Given the description of an element on the screen output the (x, y) to click on. 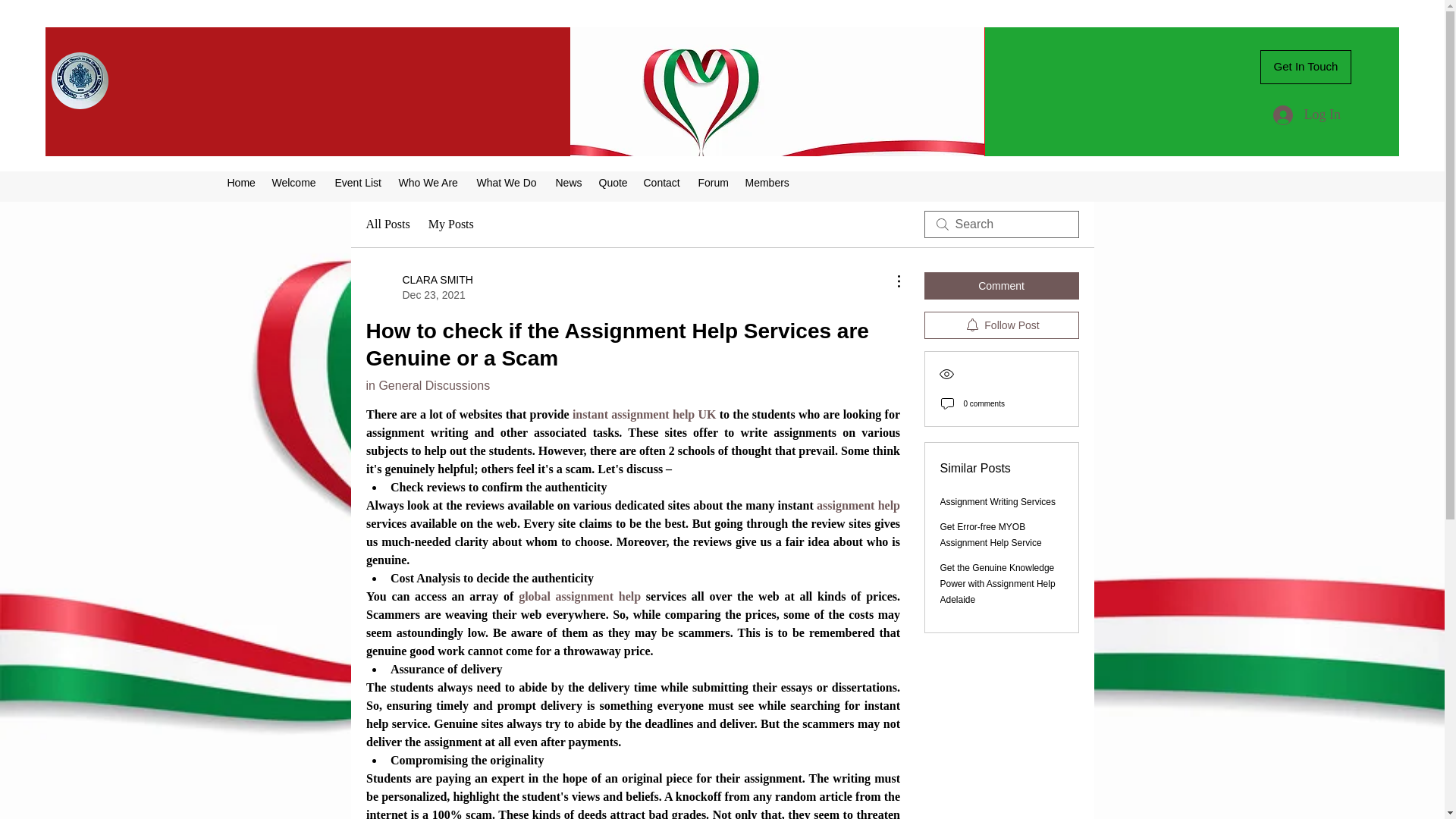
Contact (662, 182)
Get Error-free MYOB Assignment Help Service (991, 534)
Home (241, 182)
Comment (418, 286)
Welcome (1000, 285)
Log In (294, 182)
Assignment Writing Services (1306, 114)
global assignment help (998, 501)
What We Do (579, 595)
